Given the description of an element on the screen output the (x, y) to click on. 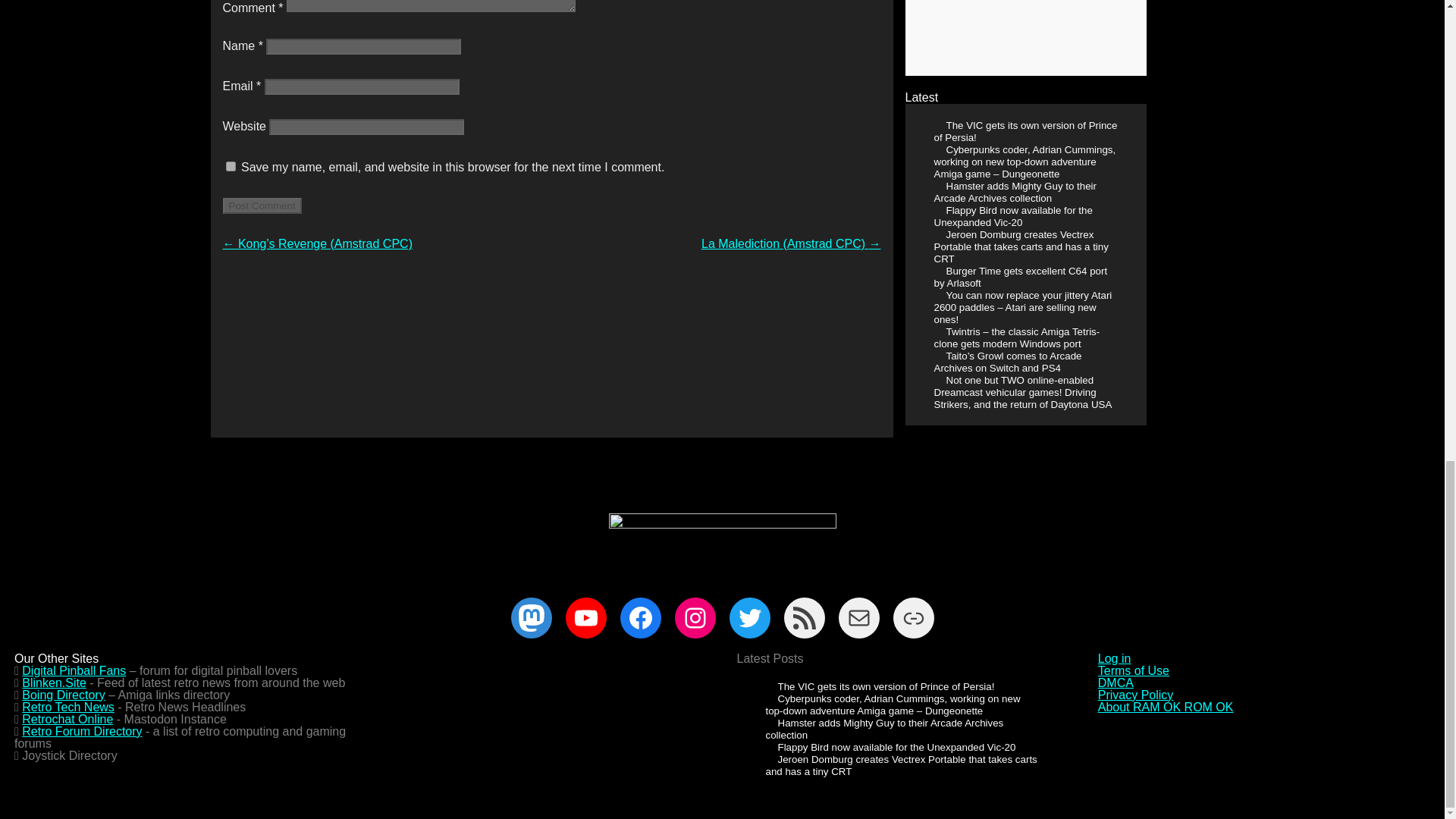
yes (230, 166)
Post Comment (261, 205)
Post Comment (261, 205)
